Given the description of an element on the screen output the (x, y) to click on. 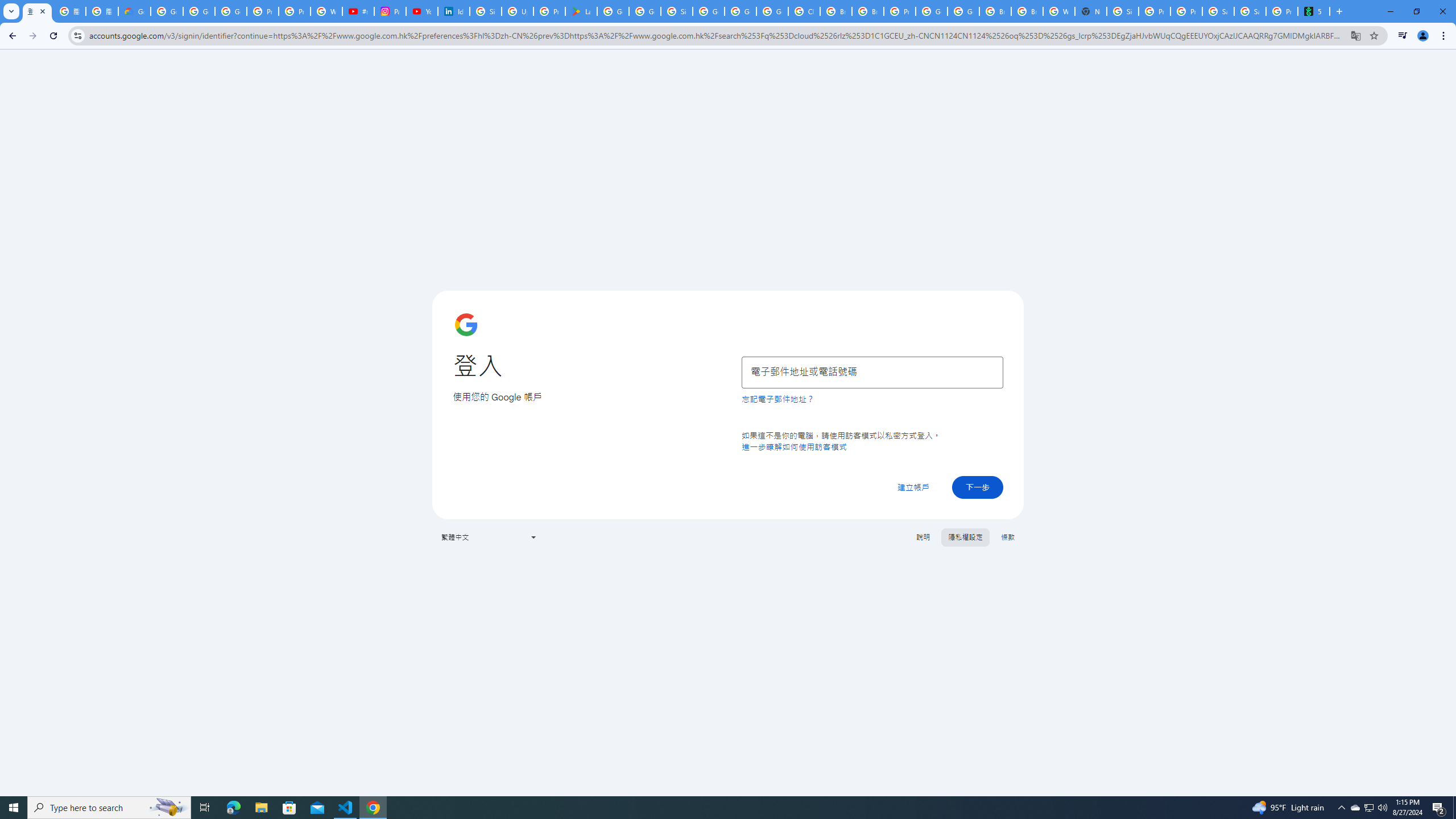
Sign in - Google Accounts (1123, 11)
YouTube Culture & Trends - On The Rise: Handcam Videos (421, 11)
Browse Chrome as a guest - Computer - Google Chrome Help (836, 11)
Identity verification via Persona | LinkedIn Help (453, 11)
Browse Chrome as a guest - Computer - Google Chrome Help (868, 11)
Privacy Help Center - Policies Help (294, 11)
Translate this page (1355, 35)
